Given the description of an element on the screen output the (x, y) to click on. 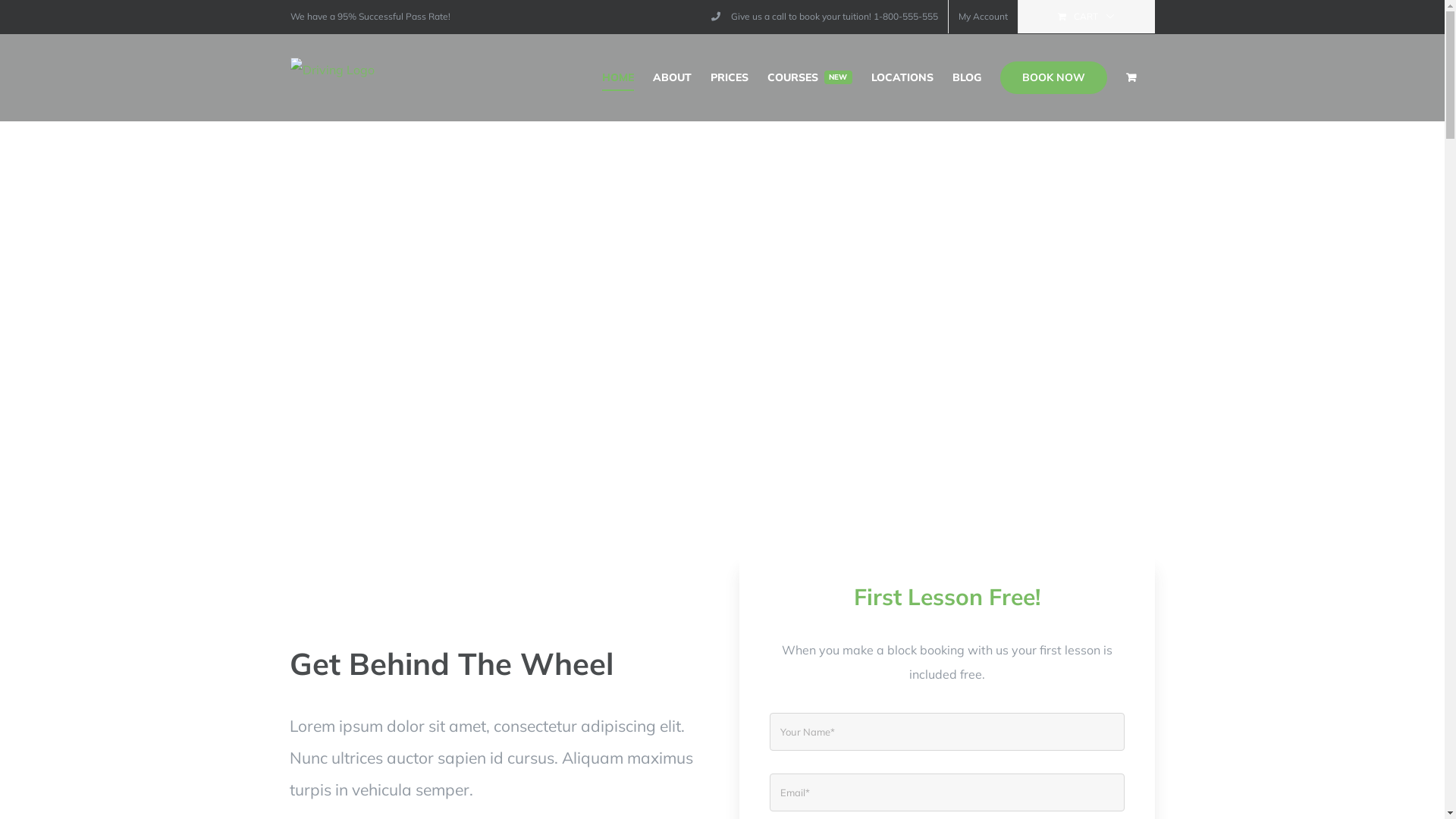
CART Element type: text (1085, 16)
PRICES Element type: text (729, 77)
Give us a call to book your tuition! 1-800-555-555 Element type: text (823, 16)
BLOG Element type: text (966, 77)
ABOUT Element type: text (671, 77)
HOME Element type: text (617, 77)
Log In Element type: text (1038, 176)
BOOK NOW Element type: text (1052, 77)
LOCATIONS Element type: text (901, 77)
COURSES
NEW Element type: text (809, 77)
My Account Element type: text (981, 16)
